Given the description of an element on the screen output the (x, y) to click on. 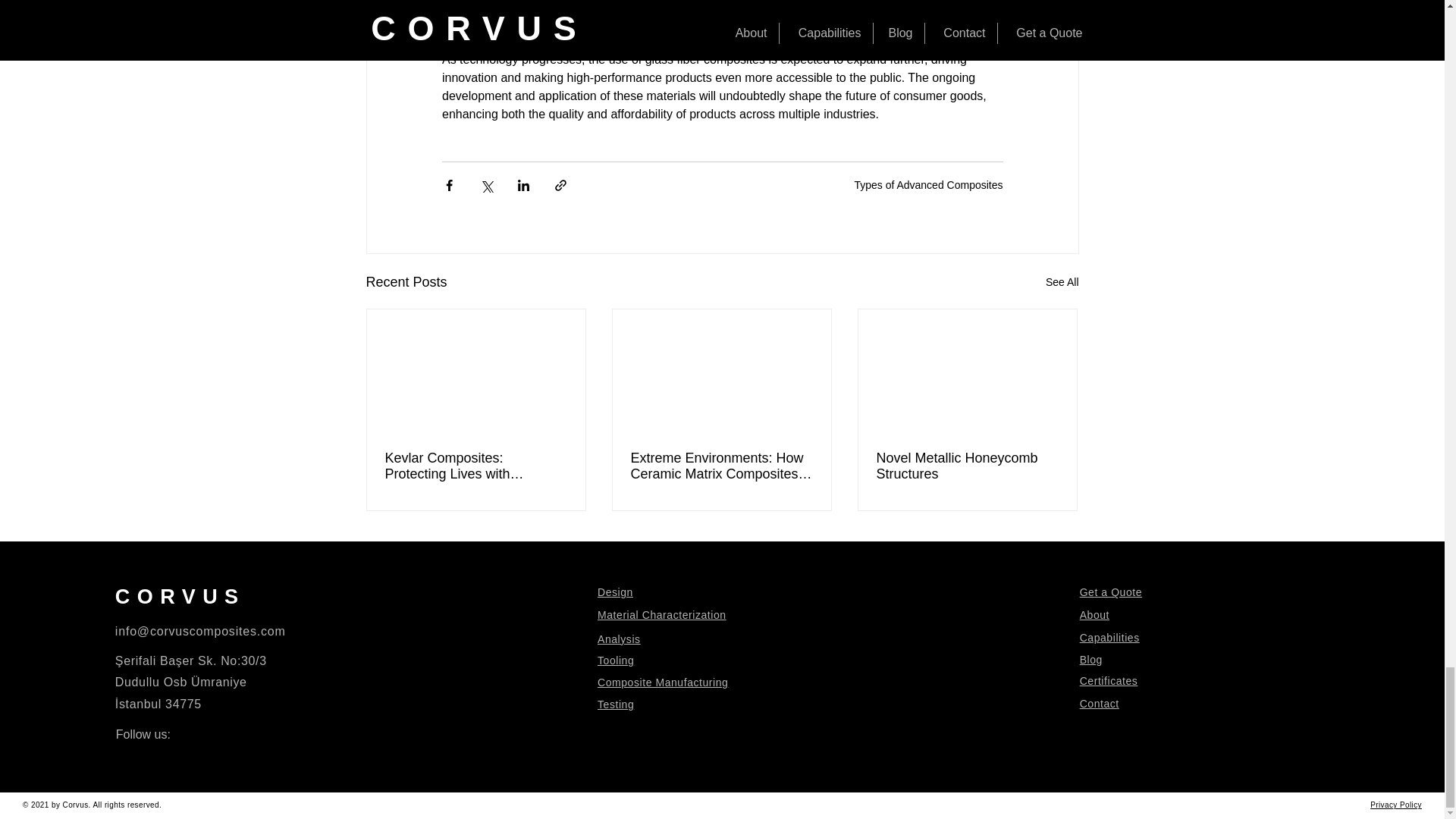
Design (614, 592)
CORVUS (180, 596)
Novel Metallic Honeycomb Structures (967, 466)
Get a Quote (1110, 592)
Types of Advanced Composites (928, 184)
See All (1061, 282)
